Given the description of an element on the screen output the (x, y) to click on. 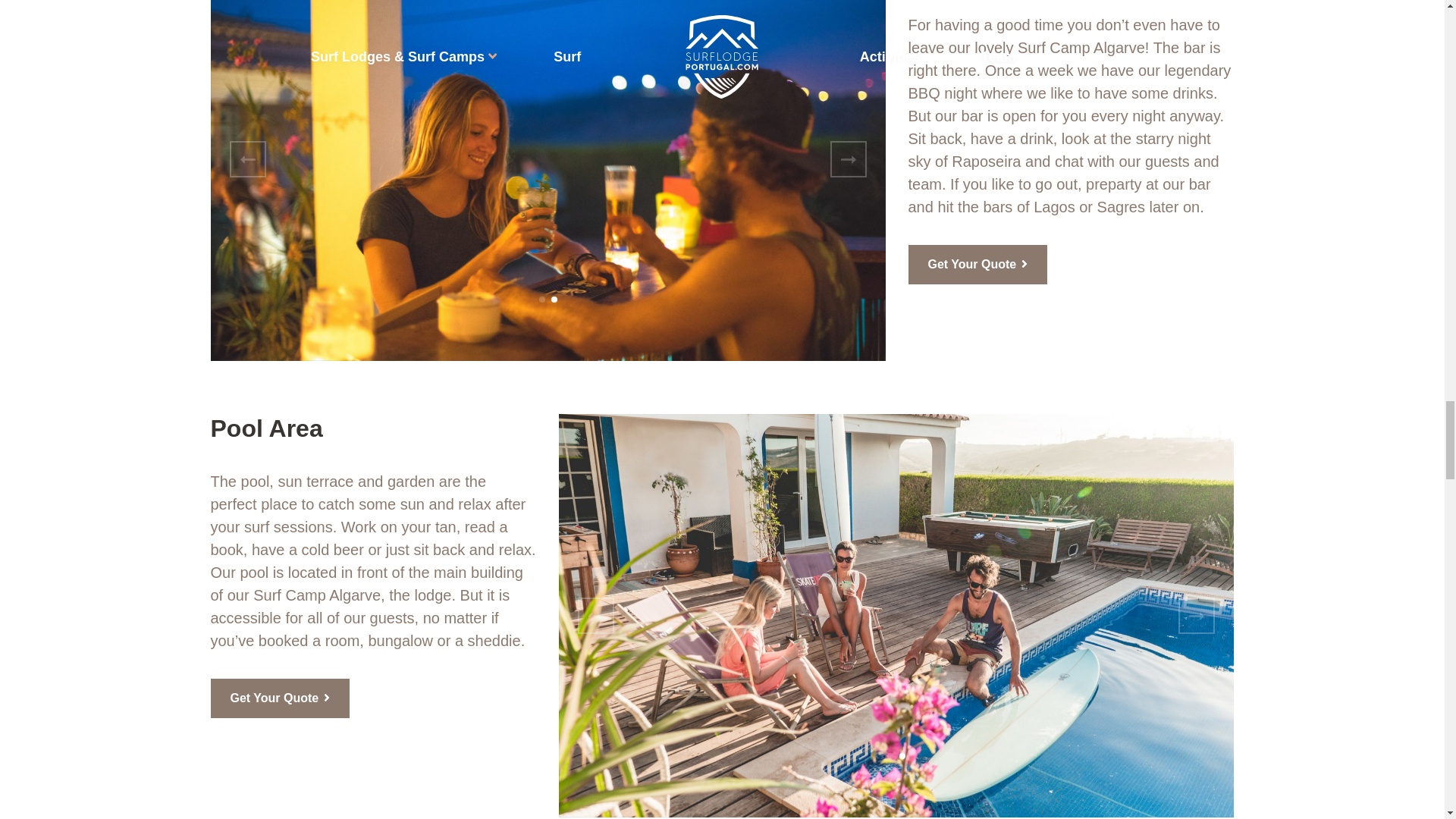
Get Your Quote (280, 698)
Get Your Quote (280, 698)
Get Your Quote (978, 264)
Get Your Quote (978, 264)
